Given the description of an element on the screen output the (x, y) to click on. 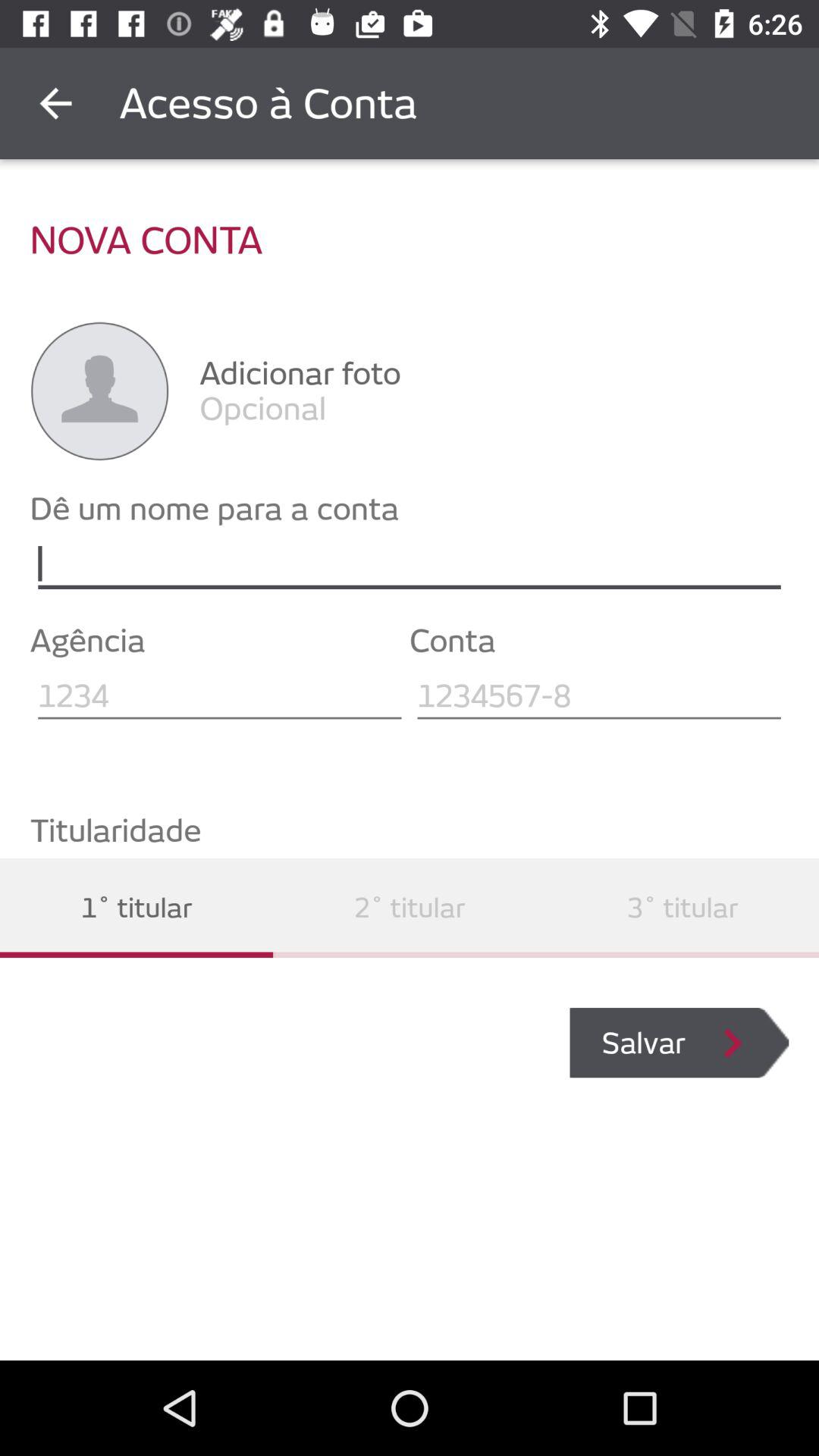
go to zipcode (219, 696)
